Given the description of an element on the screen output the (x, y) to click on. 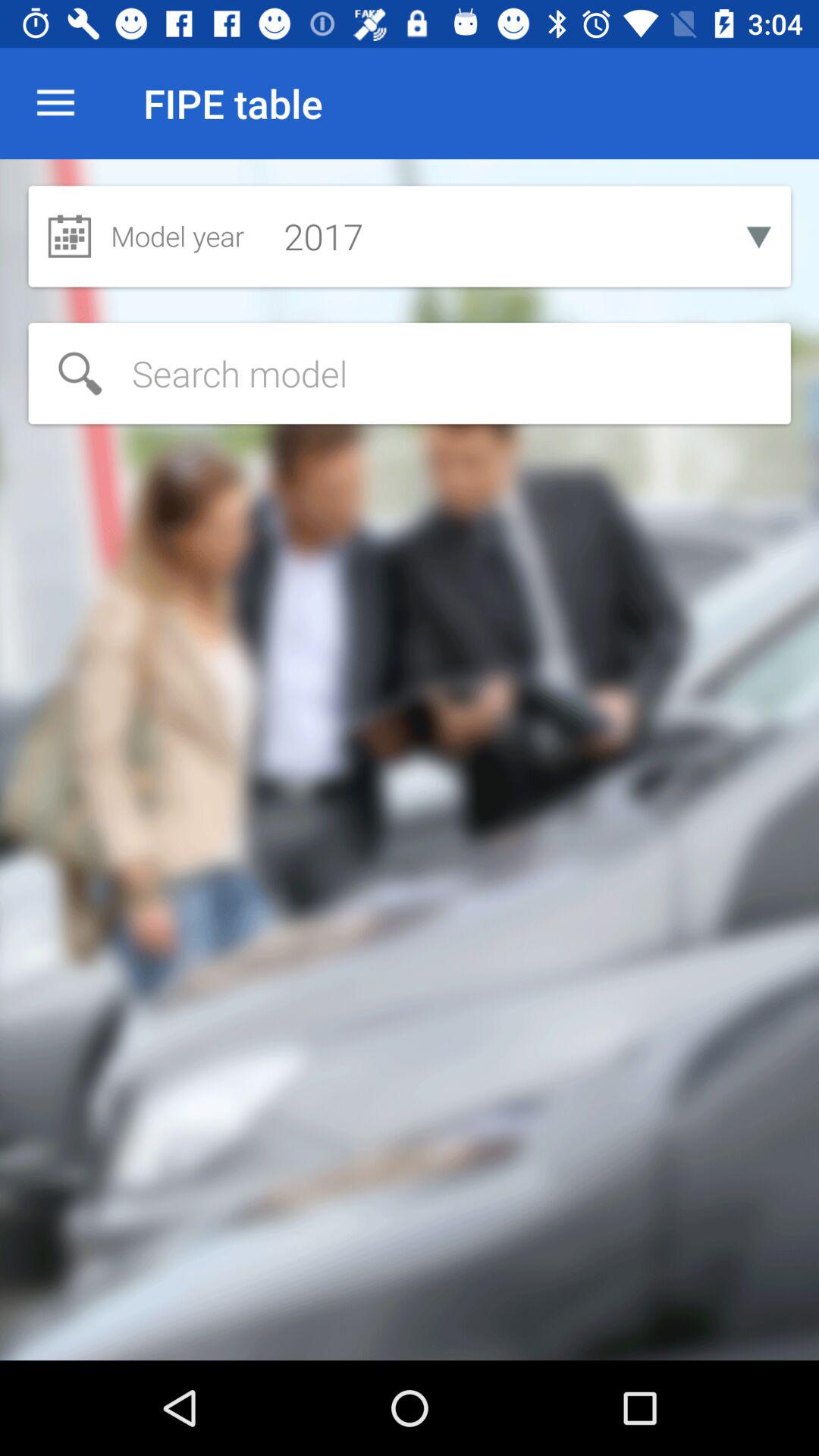
turn on icon next to fipe table item (55, 103)
